Given the description of an element on the screen output the (x, y) to click on. 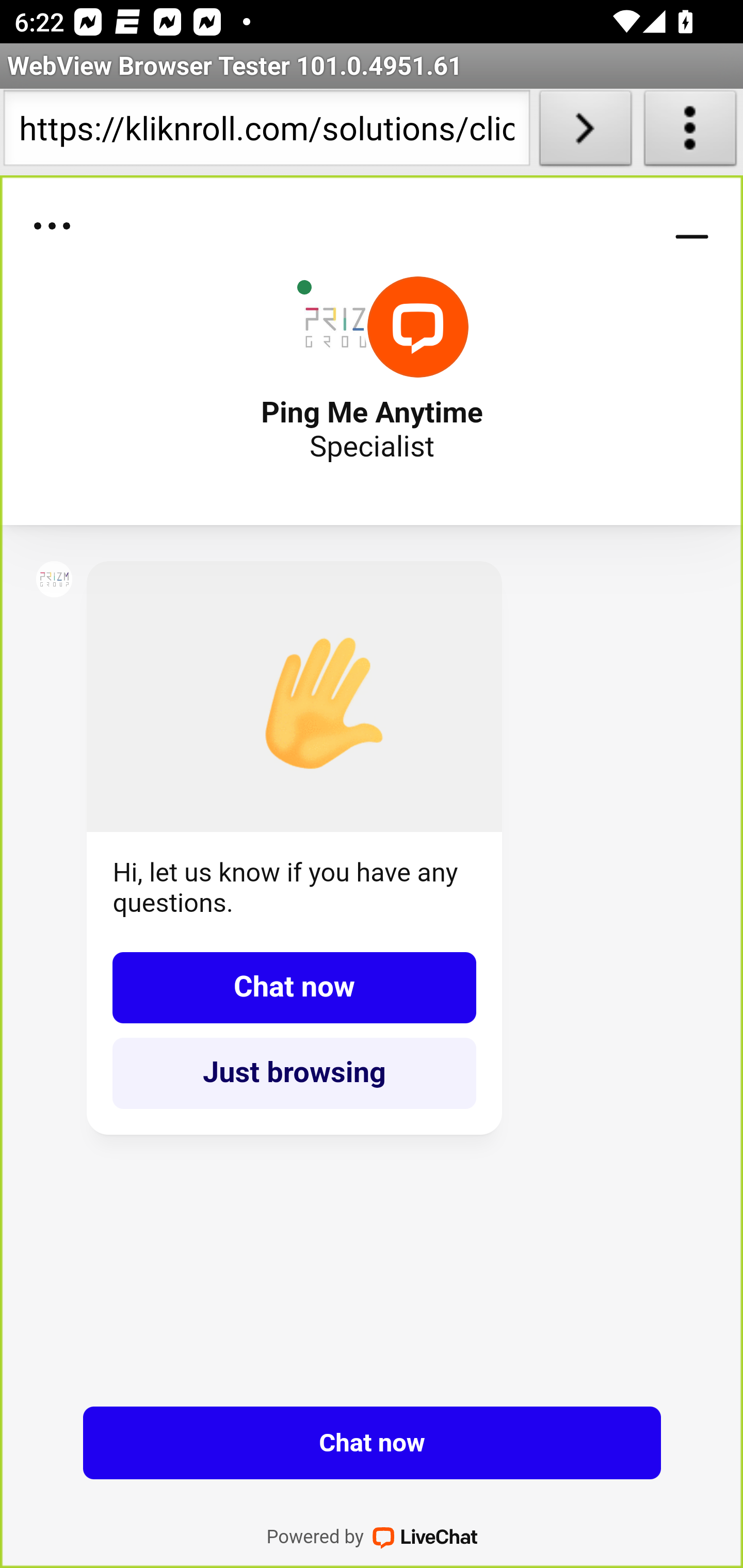
Load URL (585, 132)
About WebView (690, 132)
